Given the description of an element on the screen output the (x, y) to click on. 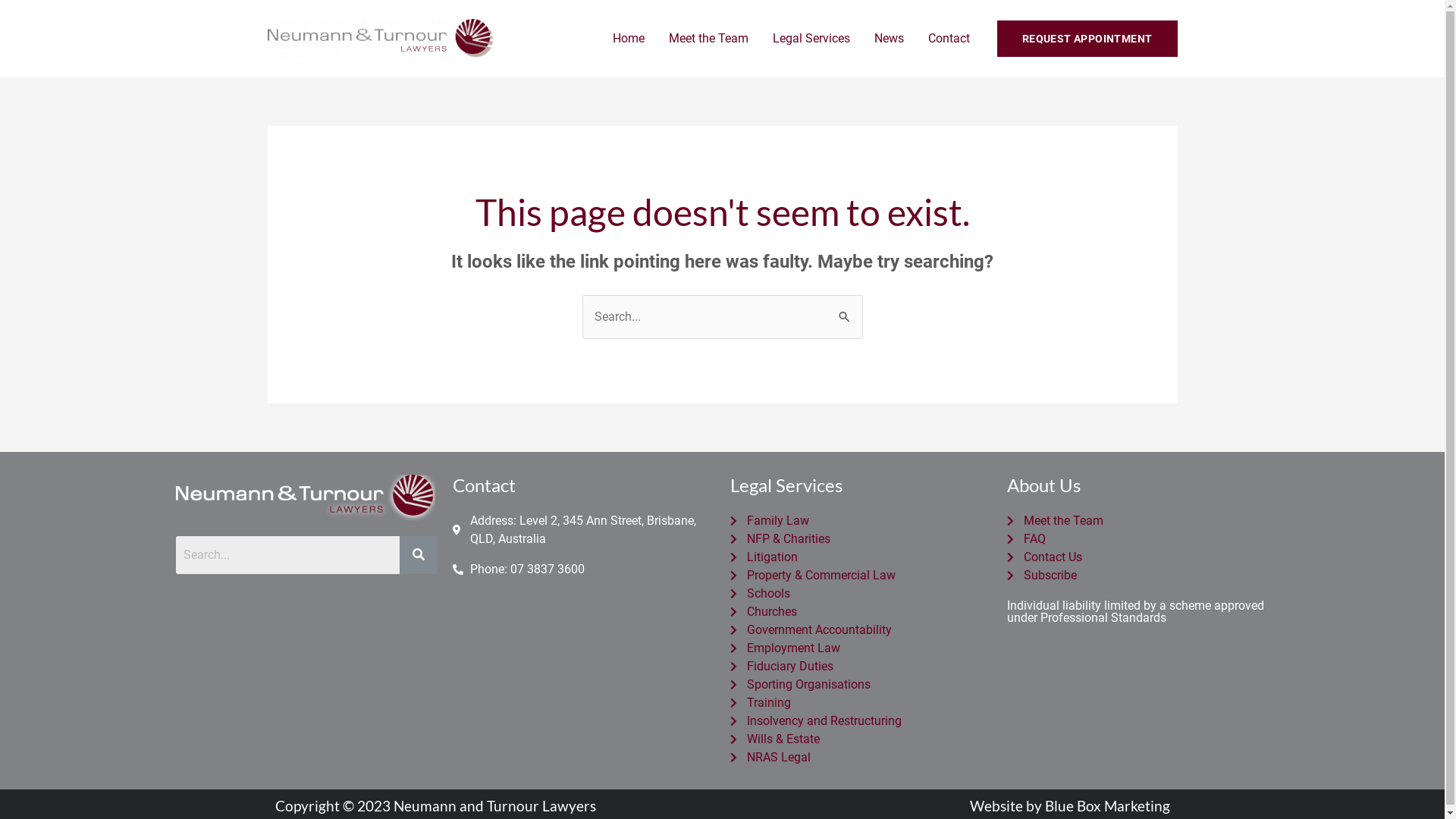
Employment Law Element type: text (860, 648)
Fiduciary Duties Element type: text (860, 666)
REQUEST APPOINTMENT Element type: text (1087, 38)
NFP & Charities Element type: text (860, 539)
Property & Commercial Law Element type: text (860, 575)
Meet the Team Element type: text (708, 38)
Sporting Organisations Element type: text (860, 684)
Home Element type: text (628, 38)
Search Element type: text (845, 309)
Insolvency and Restructuring Element type: text (860, 721)
News Element type: text (889, 38)
Litigation Element type: text (860, 557)
Contact Us Element type: text (1137, 557)
Meet the Team Element type: text (1137, 520)
Government Accountability Element type: text (860, 630)
Wills & Estate Element type: text (860, 739)
Churches Element type: text (860, 611)
Training Element type: text (860, 702)
Phone: 07 3837 3600 Element type: text (583, 569)
NRAS Legal Element type: text (860, 757)
FAQ Element type: text (1137, 539)
Legal Services Element type: text (811, 38)
Website by Blue Box Marketing Element type: text (1069, 805)
Search Element type: hover (287, 555)
Subscribe Element type: text (1137, 575)
Family Law Element type: text (860, 520)
Contact Element type: text (949, 38)
Schools Element type: text (860, 593)
